Given the description of an element on the screen output the (x, y) to click on. 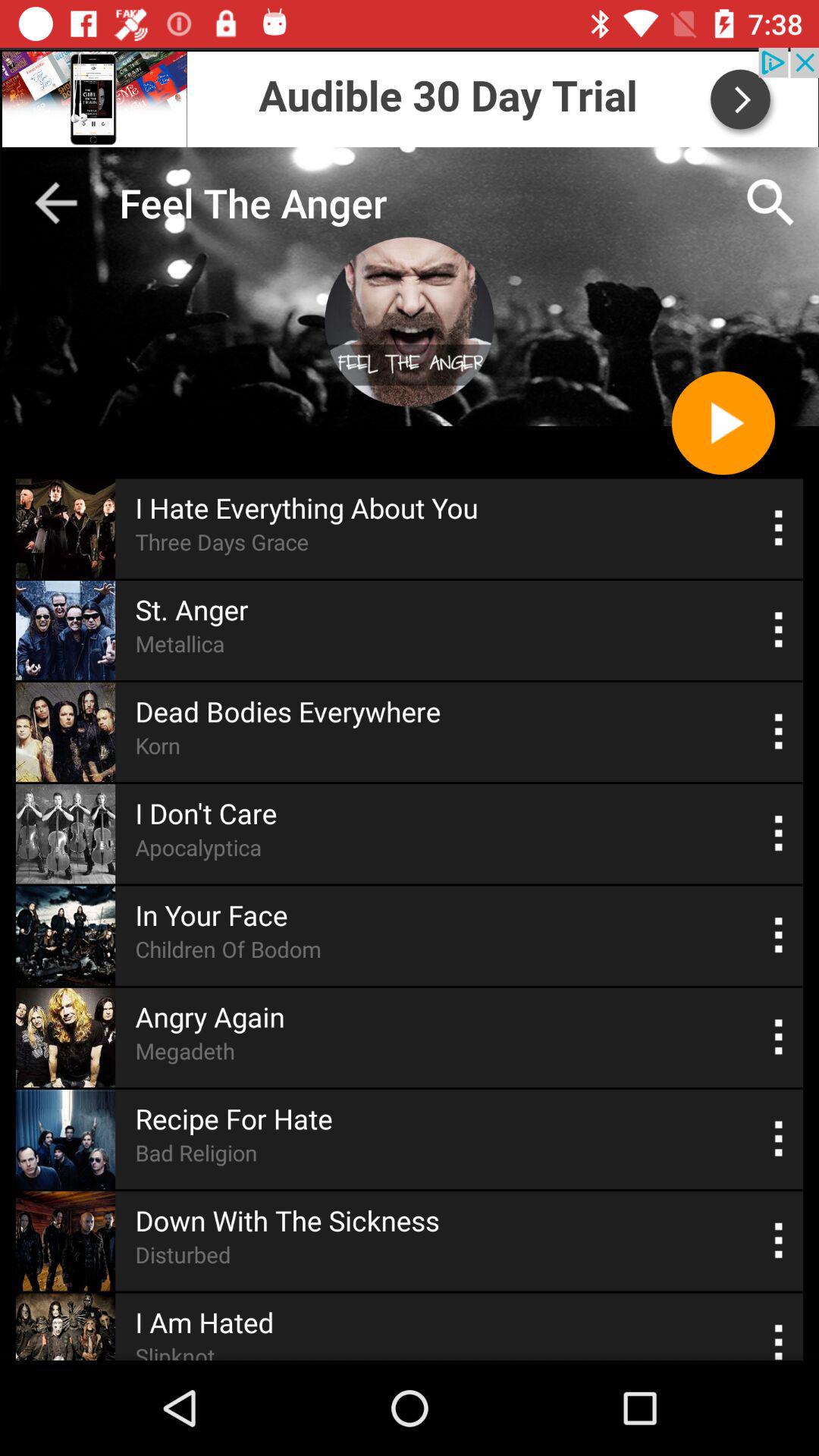
view more information (779, 1037)
